Given the description of an element on the screen output the (x, y) to click on. 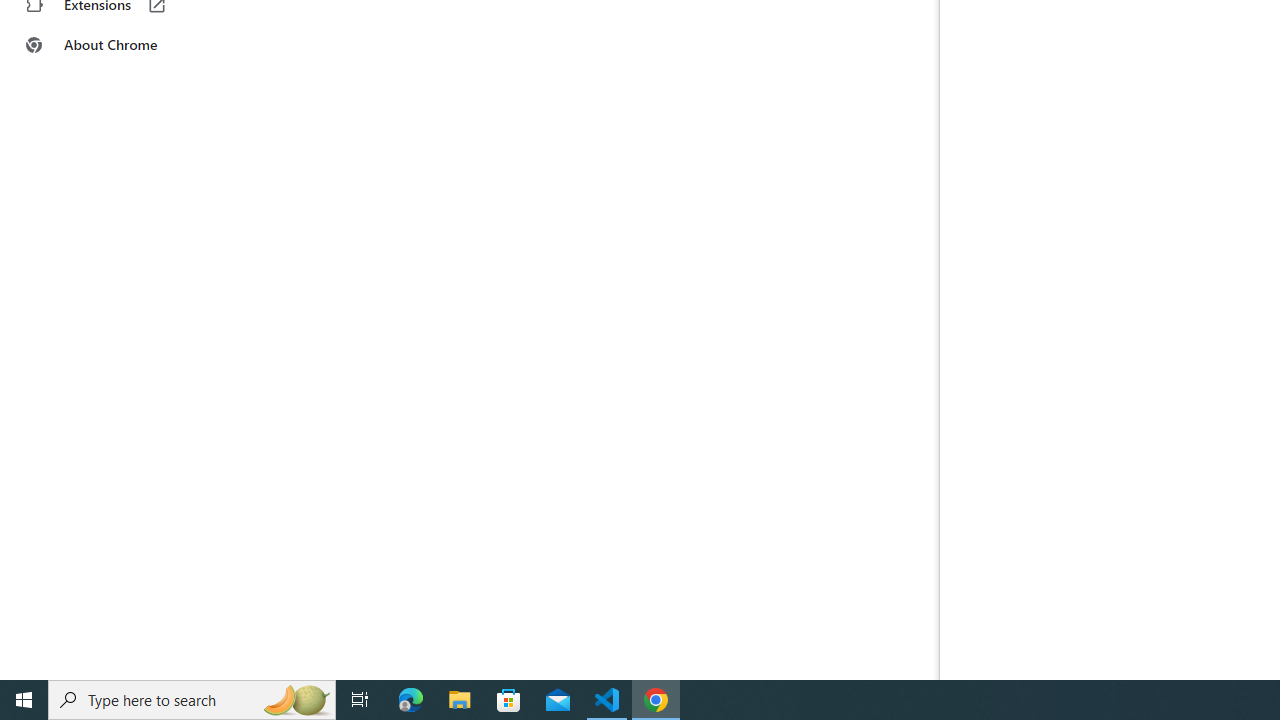
About Chrome (124, 44)
